Given the description of an element on the screen output the (x, y) to click on. 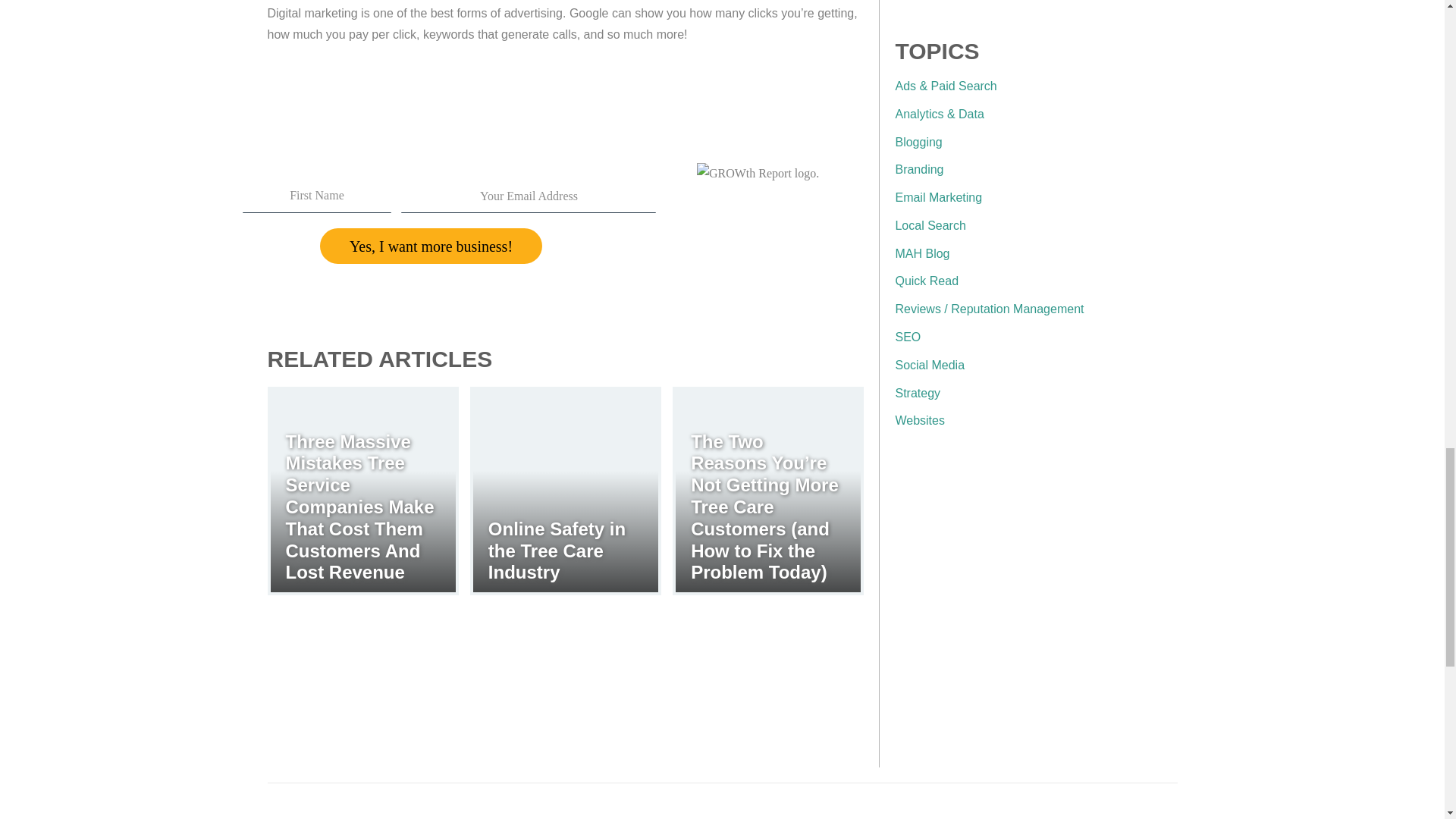
1 (1035, 610)
MAH Blog (922, 253)
Online Safety in the Tree Care Industry (556, 550)
Online Safety in the Tree Care Industry (565, 490)
Tree Care Marketing Claims You Should Never Believe (796, 212)
Online Safety in the Tree Care Industry (556, 550)
Branding (919, 169)
Email Marketing (938, 196)
Yes, I want more business! (430, 245)
Quick Read (926, 280)
Local Search (930, 225)
Blogging (918, 141)
